Given the description of an element on the screen output the (x, y) to click on. 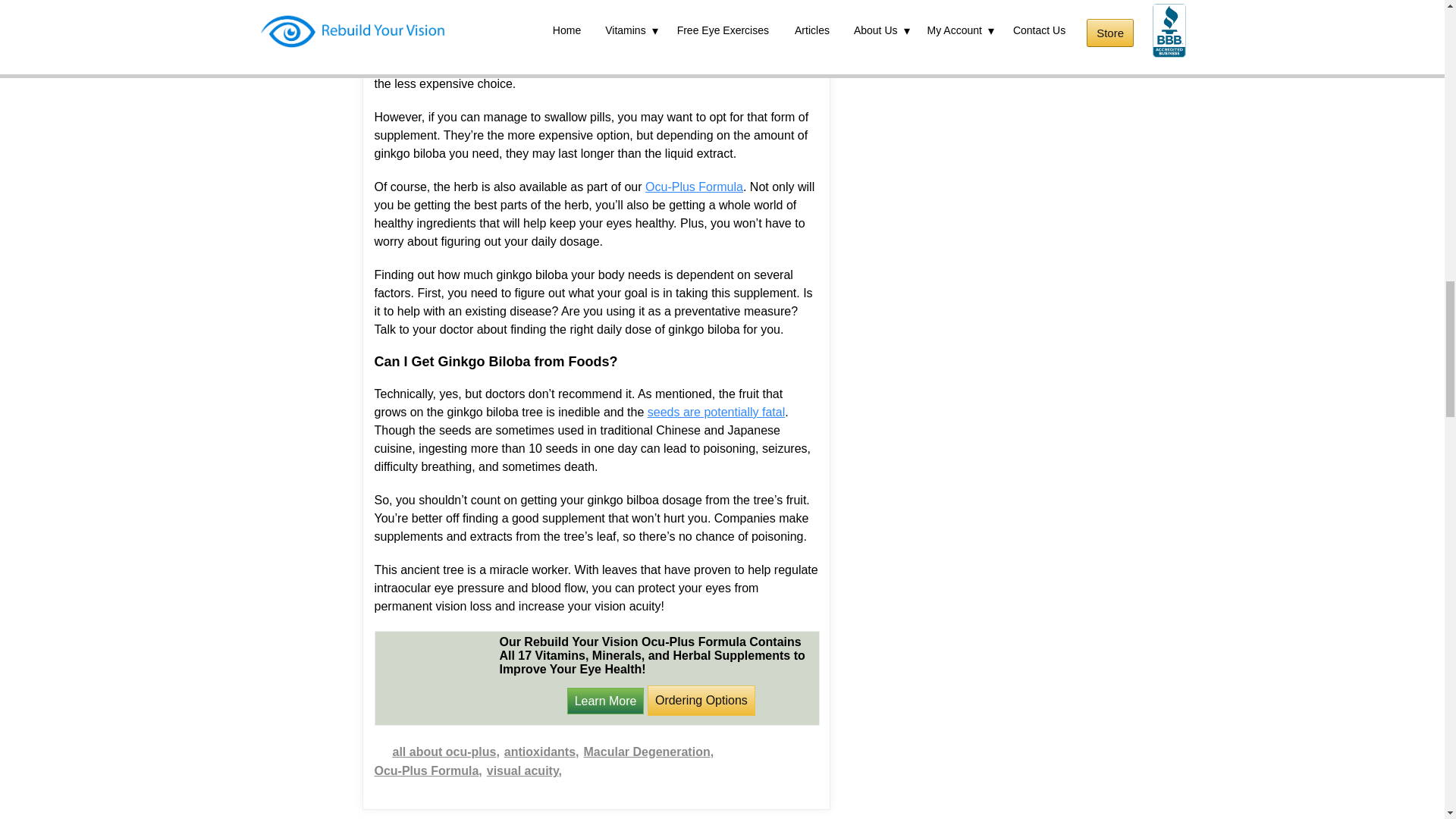
Macular Degeneration (648, 752)
Ocu-Plus Formula (427, 770)
Learn More (606, 700)
antioxidants (541, 752)
visual acuity (524, 770)
Ordering Options (701, 700)
all about ocu-plus (446, 752)
seeds are potentially fatal (715, 411)
Ocu-Plus Formula (693, 186)
